Given the description of an element on the screen output the (x, y) to click on. 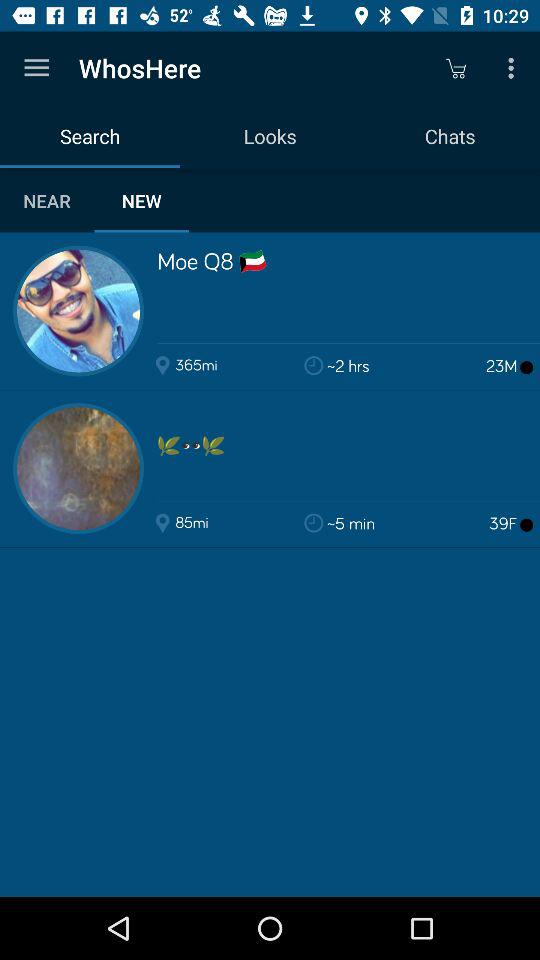
turn on icon to the right of looks (455, 67)
